Given the description of an element on the screen output the (x, y) to click on. 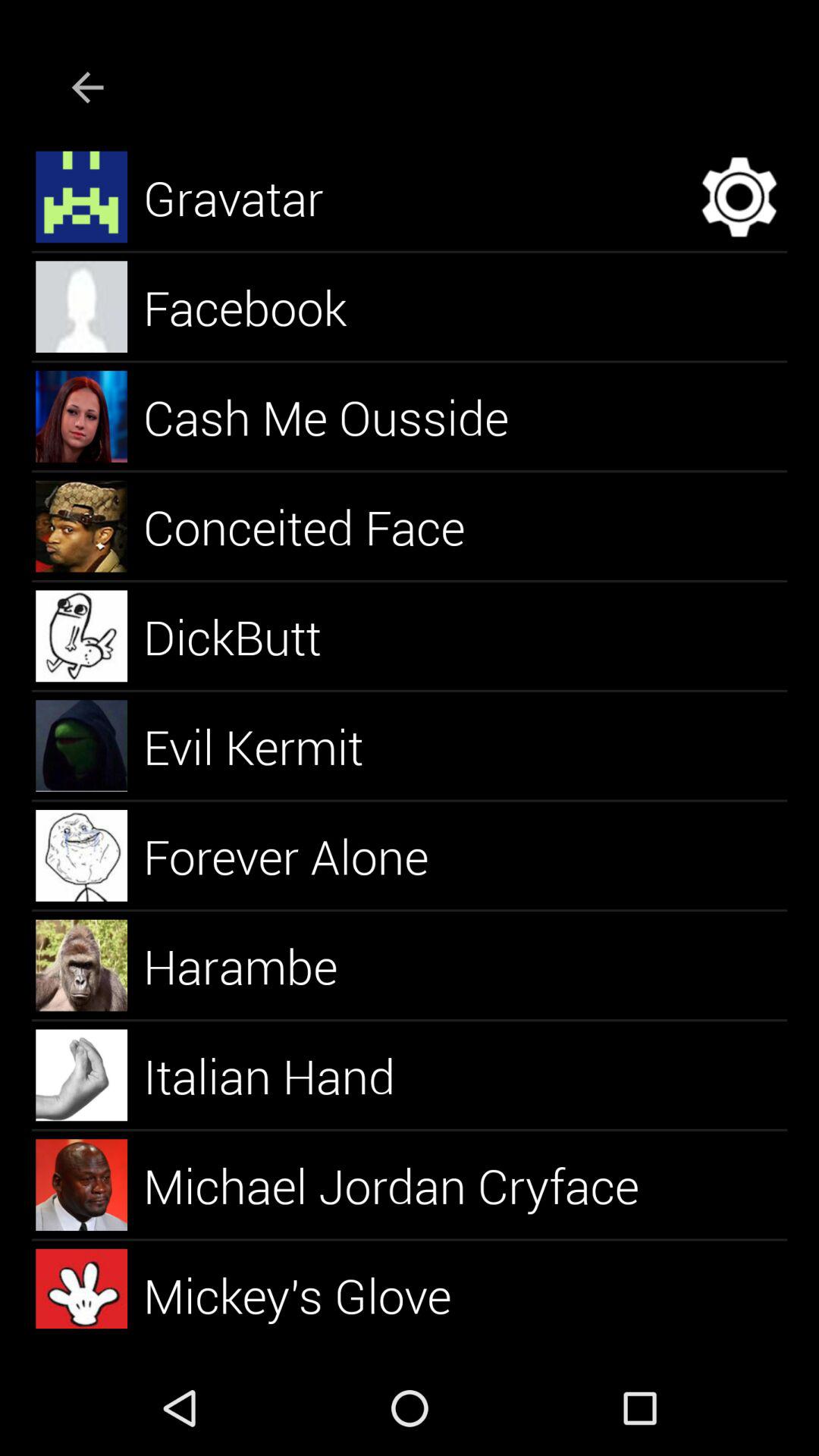
settings option (739, 196)
